Given the description of an element on the screen output the (x, y) to click on. 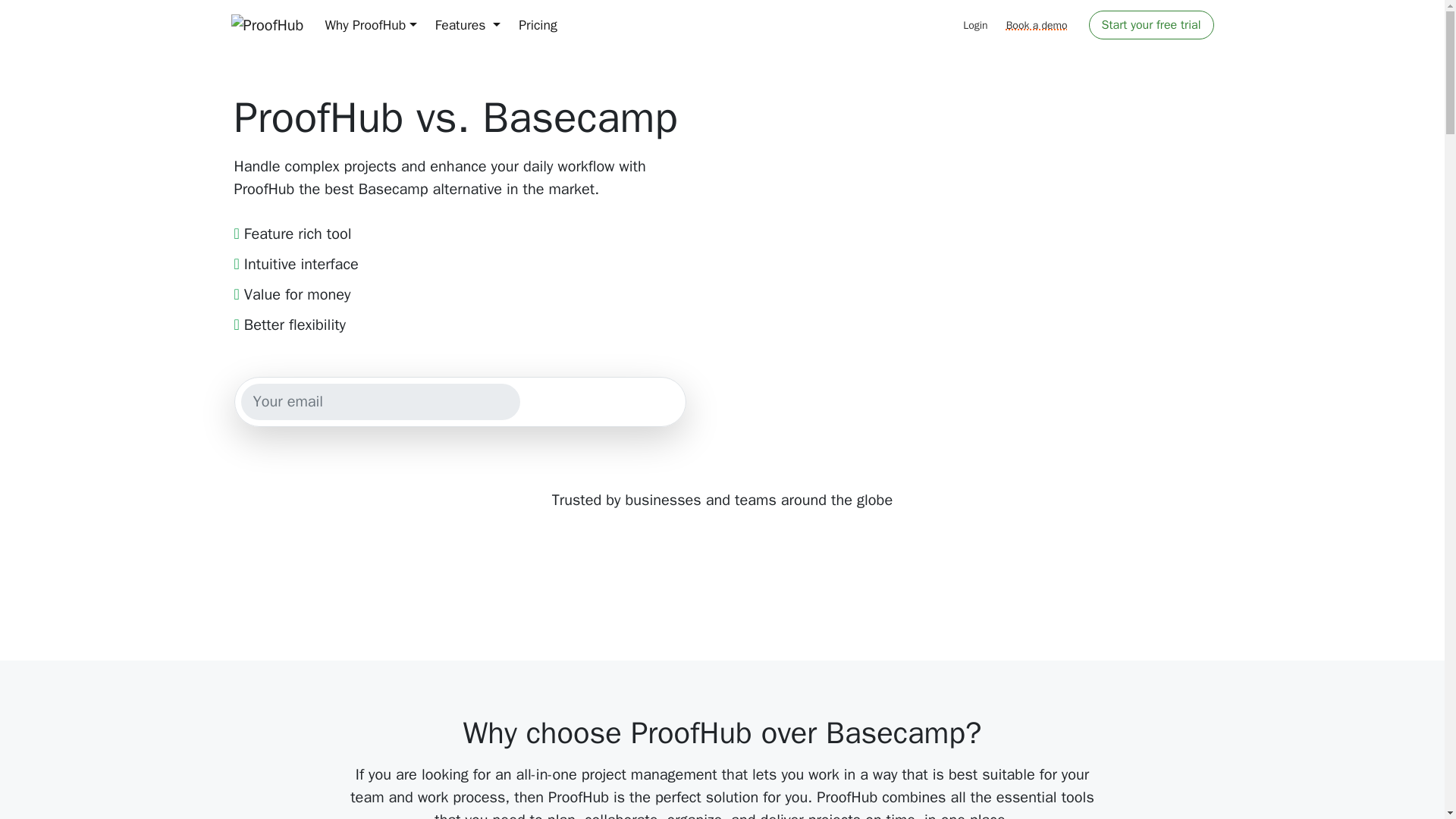
Get started for free (601, 402)
Why ProofHub (370, 24)
Features (468, 24)
